Given the description of an element on the screen output the (x, y) to click on. 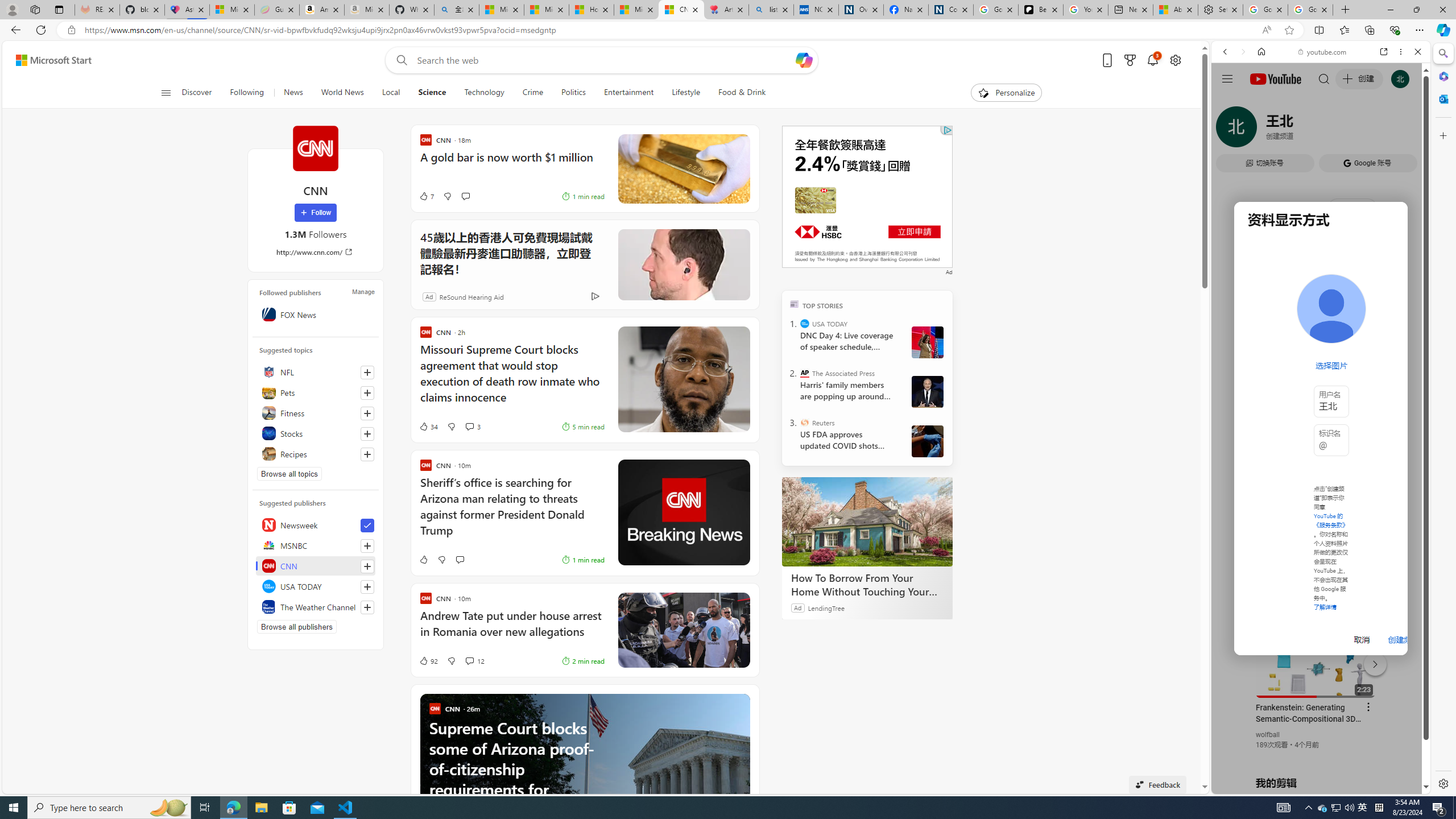
View comments 3 Comment (469, 426)
list of asthma inhalers uk - Search (770, 9)
VIDEOS (1300, 130)
Politics (573, 92)
Lifestyle (685, 92)
